Given the description of an element on the screen output the (x, y) to click on. 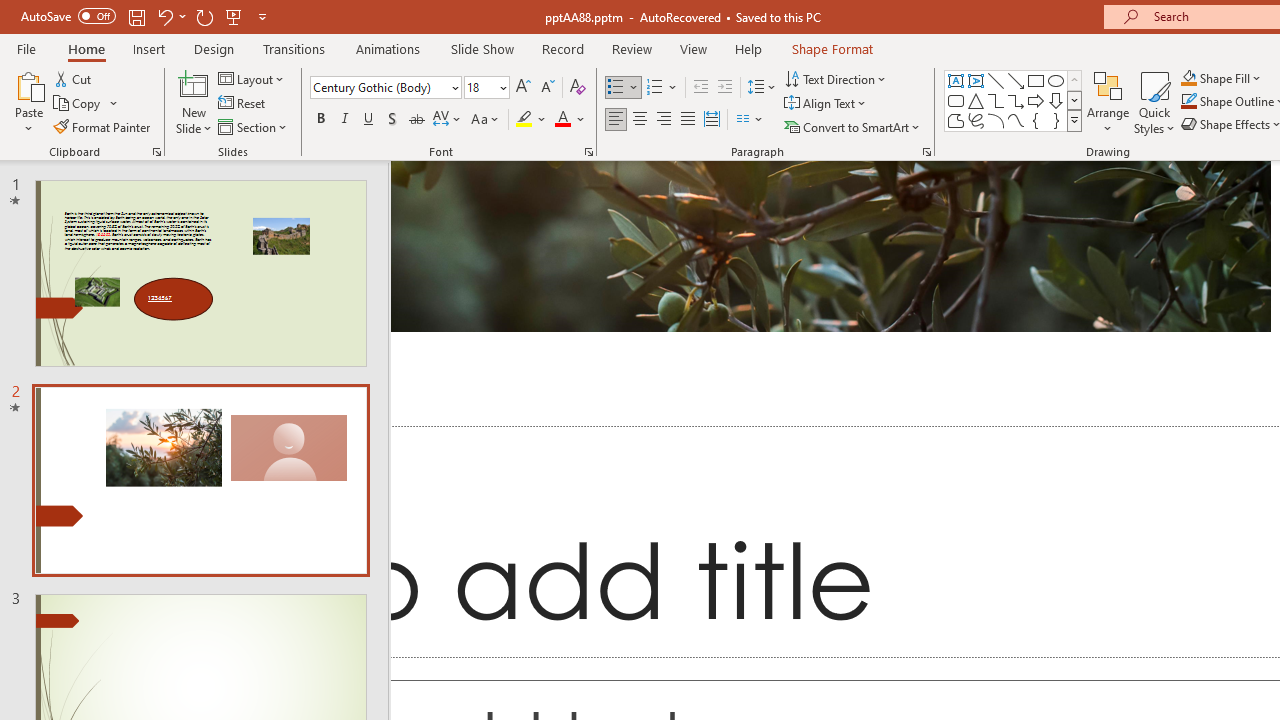
Clear Formatting (577, 87)
Columns (750, 119)
Connector: Elbow Arrow (1016, 100)
Reset (243, 103)
Font Size (486, 87)
Vertical Text Box (975, 80)
Arrange (1108, 102)
Quick Styles (1154, 102)
Section (254, 126)
Arrow: Right (1035, 100)
Freeform: Scribble (975, 120)
Help (748, 48)
Insert (149, 48)
Customize Quick Access Toolbar (262, 15)
Review (631, 48)
